Given the description of an element on the screen output the (x, y) to click on. 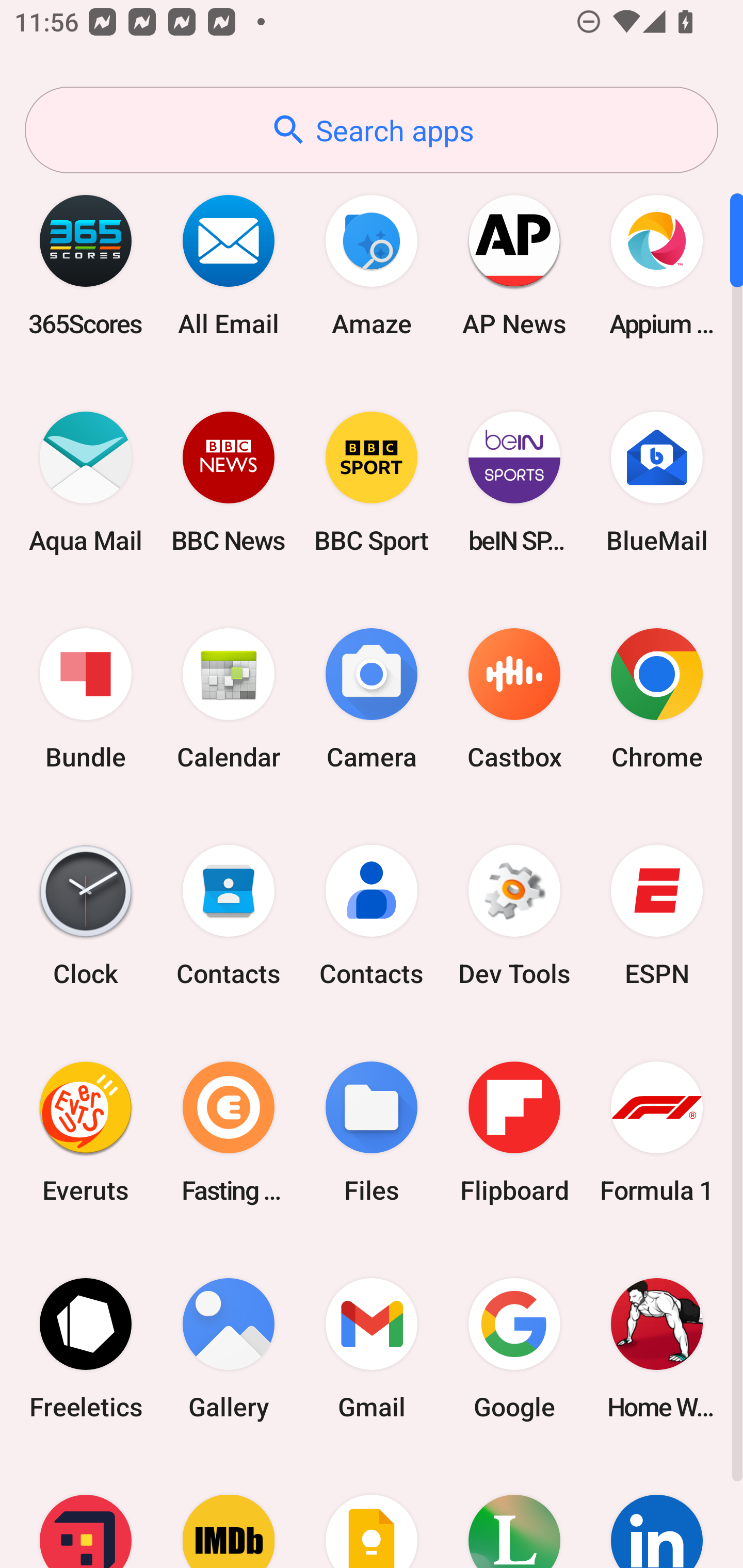
  Search apps (371, 130)
365Scores (85, 264)
All Email (228, 264)
Amaze (371, 264)
AP News (514, 264)
Appium Settings (656, 264)
Aqua Mail (85, 482)
BBC News (228, 482)
BBC Sport (371, 482)
beIN SPORTS (514, 482)
BlueMail (656, 482)
Bundle (85, 699)
Calendar (228, 699)
Camera (371, 699)
Castbox (514, 699)
Chrome (656, 699)
Clock (85, 915)
Contacts (228, 915)
Contacts (371, 915)
Dev Tools (514, 915)
ESPN (656, 915)
Everuts (85, 1131)
Fasting Coach (228, 1131)
Files (371, 1131)
Flipboard (514, 1131)
Formula 1 (656, 1131)
Freeletics (85, 1348)
Gallery (228, 1348)
Gmail (371, 1348)
Google (514, 1348)
Home Workout (656, 1348)
Hotels.com (85, 1512)
IMDb (228, 1512)
Keep Notes (371, 1512)
Lifesum (514, 1512)
LinkedIn (656, 1512)
